Given the description of an element on the screen output the (x, y) to click on. 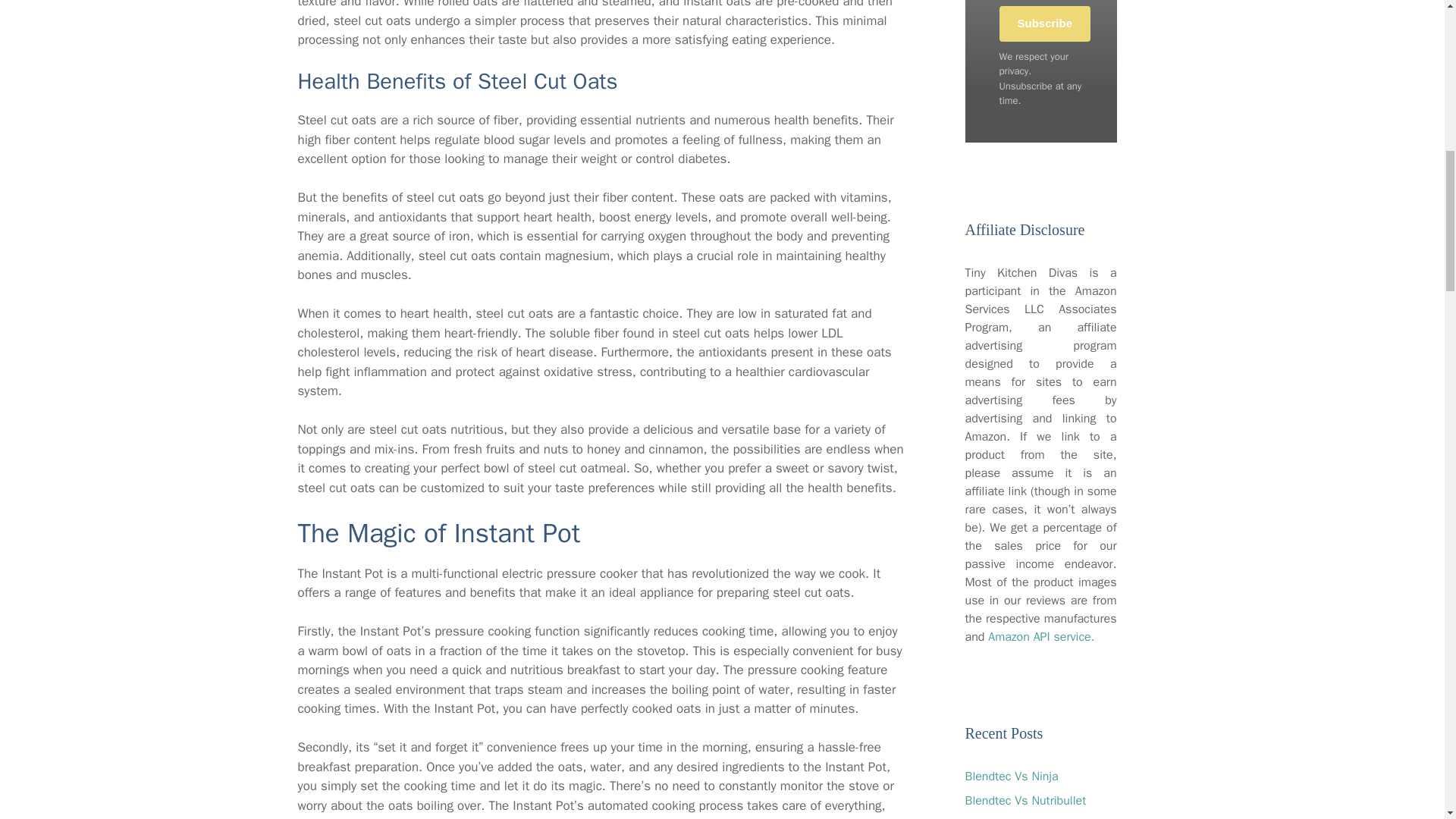
Blendtec Vs Ninja (1010, 776)
Blendtec Vs Nutribullet (1024, 800)
Scroll back to top (1406, 720)
Amazon API service. (1041, 636)
Subscribe (1044, 23)
